Given the description of an element on the screen output the (x, y) to click on. 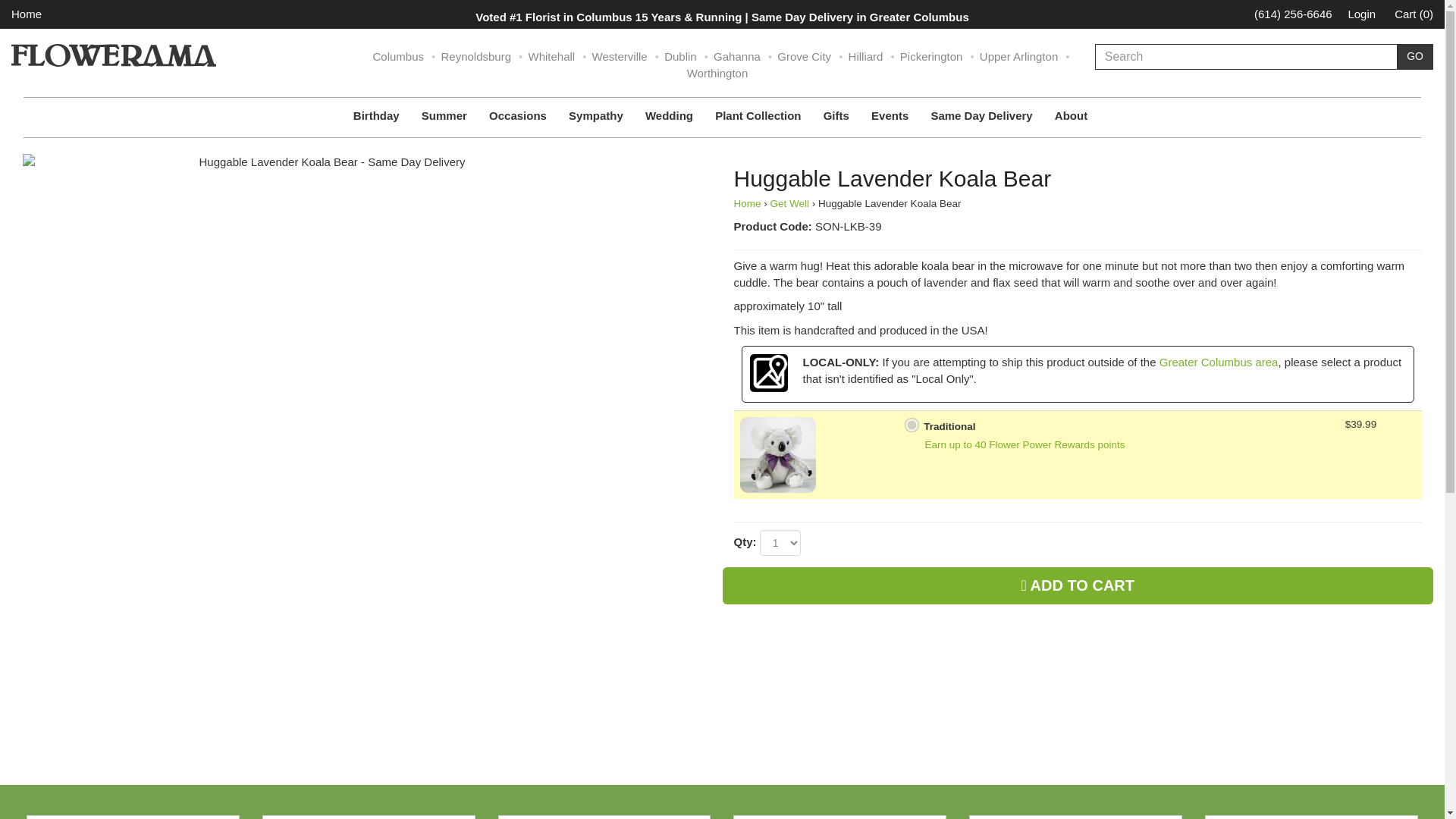
Pickerington (930, 56)
Dublin (680, 56)
Grove City (804, 56)
Hilliard (865, 56)
Birthday (378, 114)
Occasions (519, 114)
Login (1361, 13)
Home (26, 13)
Whitehall (551, 56)
Regular Version (777, 453)
Columbus (398, 56)
Worthington (717, 72)
Summer (446, 114)
Westerville (619, 56)
GO (1414, 56)
